Given the description of an element on the screen output the (x, y) to click on. 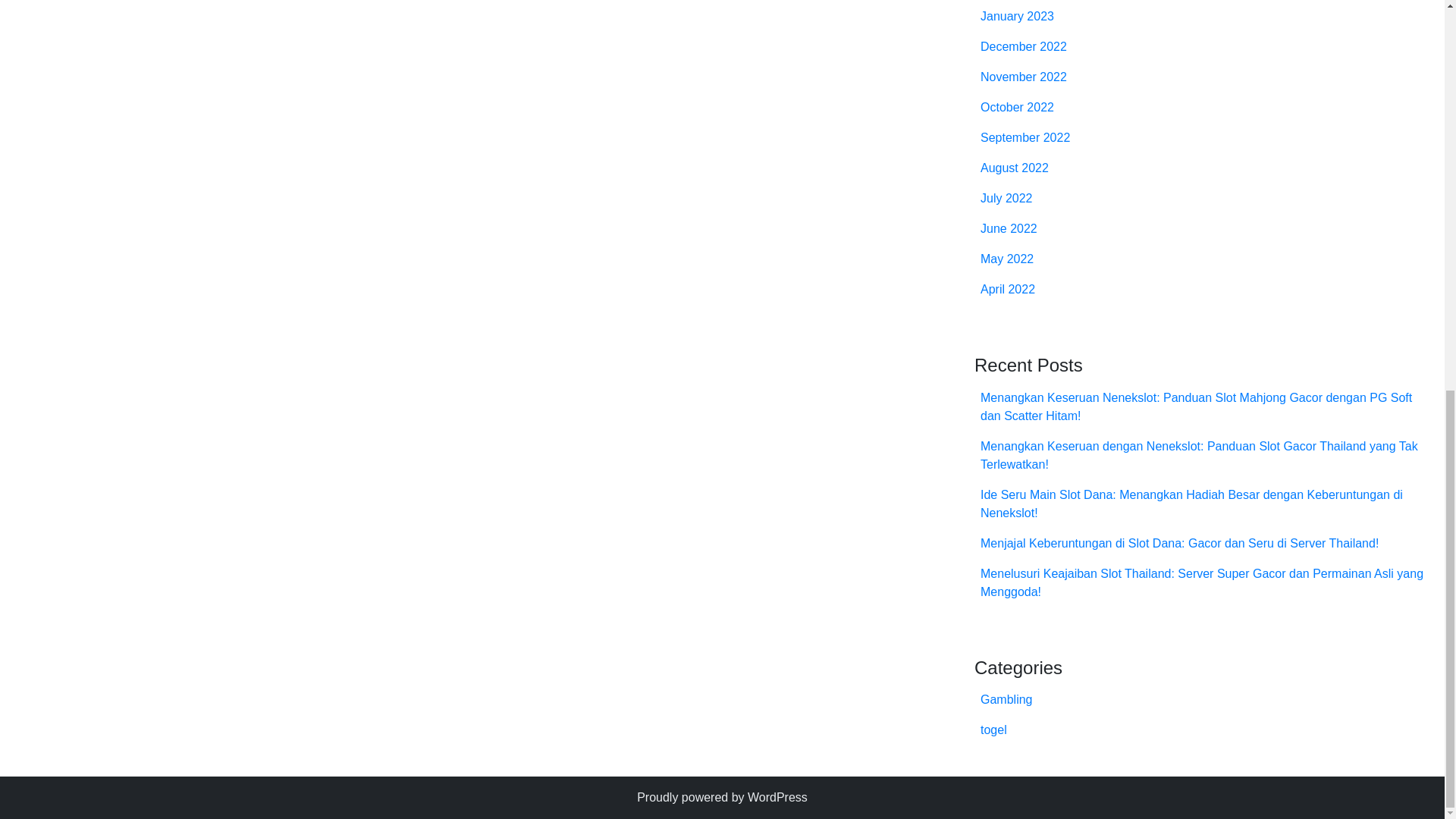
December 2022 (1023, 46)
August 2022 (1013, 167)
January 2023 (1016, 15)
April 2022 (1007, 288)
November 2022 (1023, 76)
May 2022 (1006, 258)
June 2022 (1007, 228)
